Given the description of an element on the screen output the (x, y) to click on. 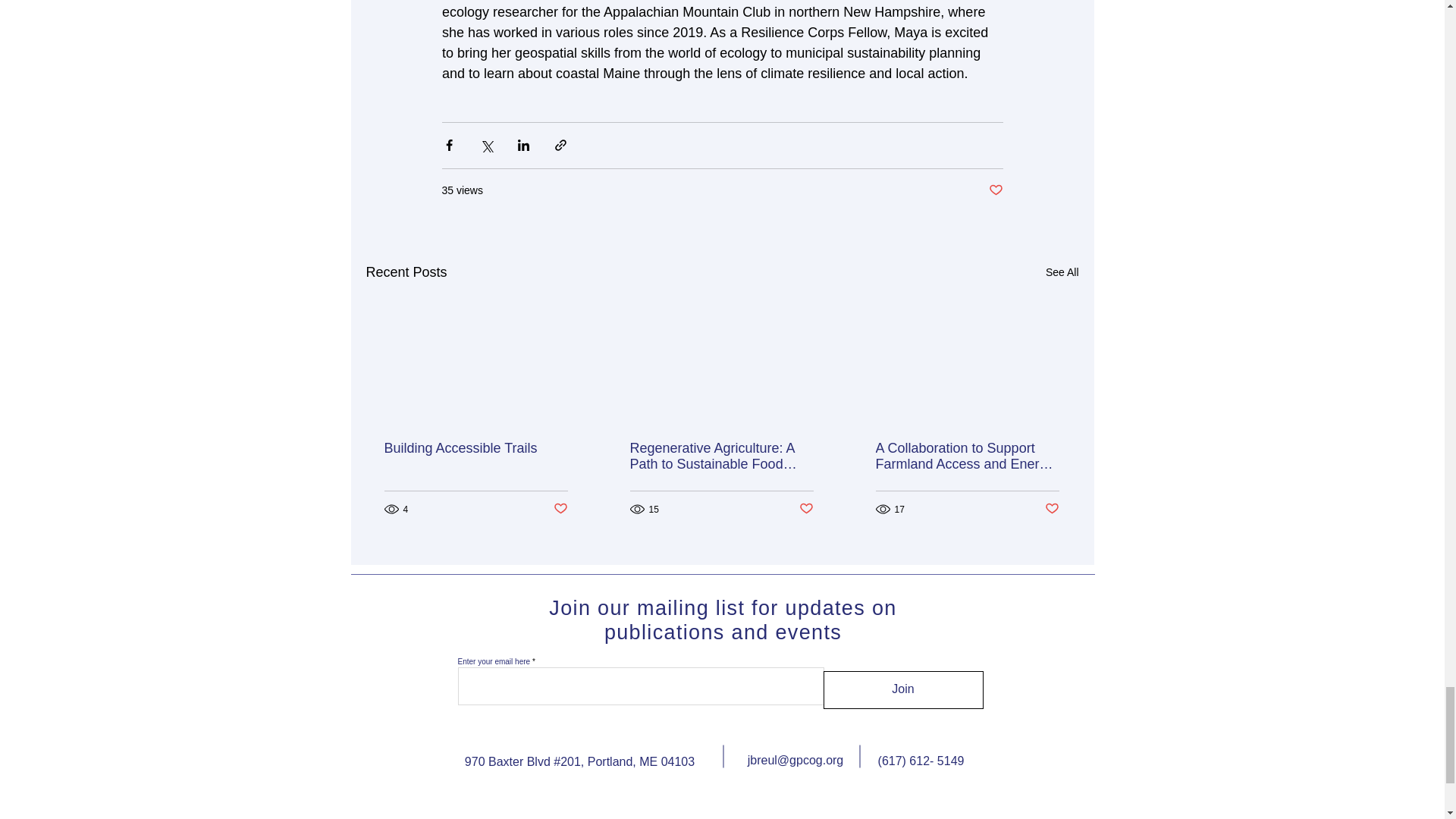
Post not marked as liked (1052, 508)
See All (1061, 272)
Post not marked as liked (560, 508)
Post not marked as liked (995, 190)
Post not marked as liked (806, 508)
Building Accessible Trails (475, 448)
